Given the description of an element on the screen output the (x, y) to click on. 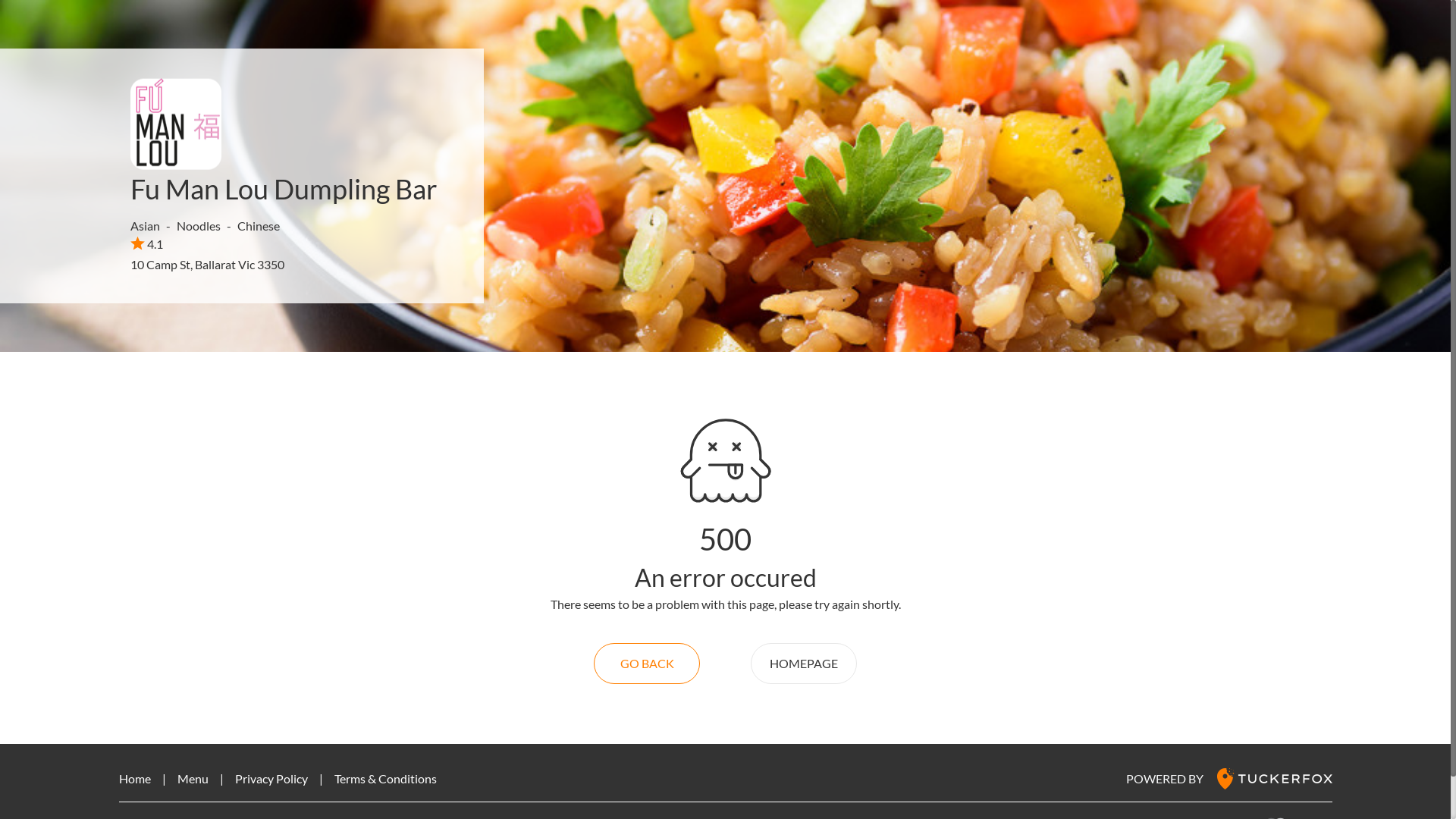
GO BACK Element type: text (646, 663)
Terms & Conditions Element type: text (384, 778)
HOMEPAGE Element type: text (803, 663)
Menu Element type: text (192, 778)
Privacy Policy Element type: text (271, 778)
Home Element type: text (134, 778)
Fu Man Lou Dumpling Bar Element type: text (283, 188)
4.1 Element type: text (146, 243)
